Given the description of an element on the screen output the (x, y) to click on. 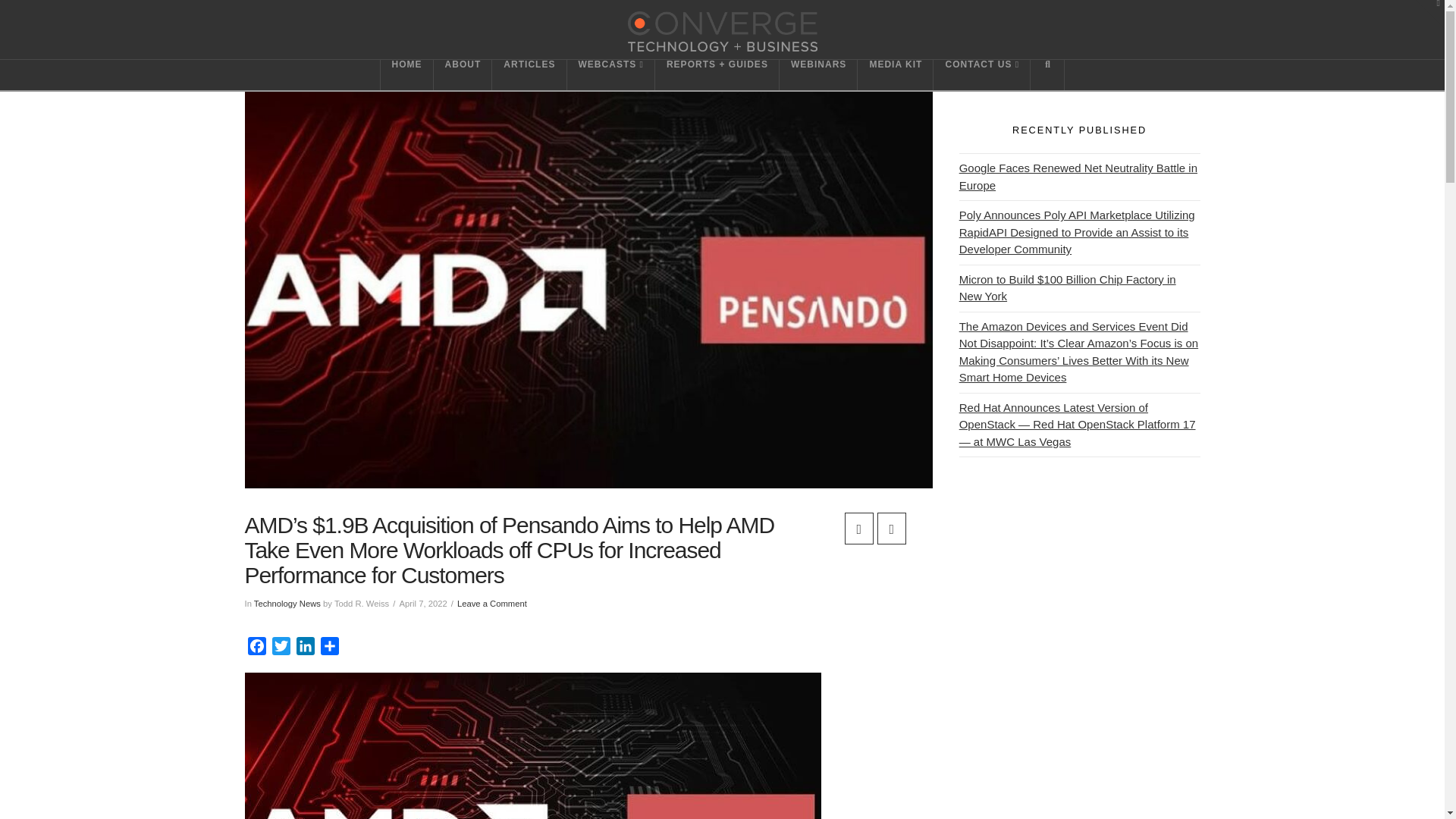
Twitter (279, 648)
Technology News (286, 603)
ARTICLES (529, 74)
Facebook (255, 648)
ABOUT (463, 74)
LinkedIn (304, 648)
Share (328, 648)
LinkedIn (304, 648)
CONTACT US (981, 74)
WEBCASTS (611, 74)
Facebook (255, 648)
Twitter (279, 648)
WEBINARS (817, 74)
Leave a Comment (492, 603)
MEDIA KIT (895, 74)
